Given the description of an element on the screen output the (x, y) to click on. 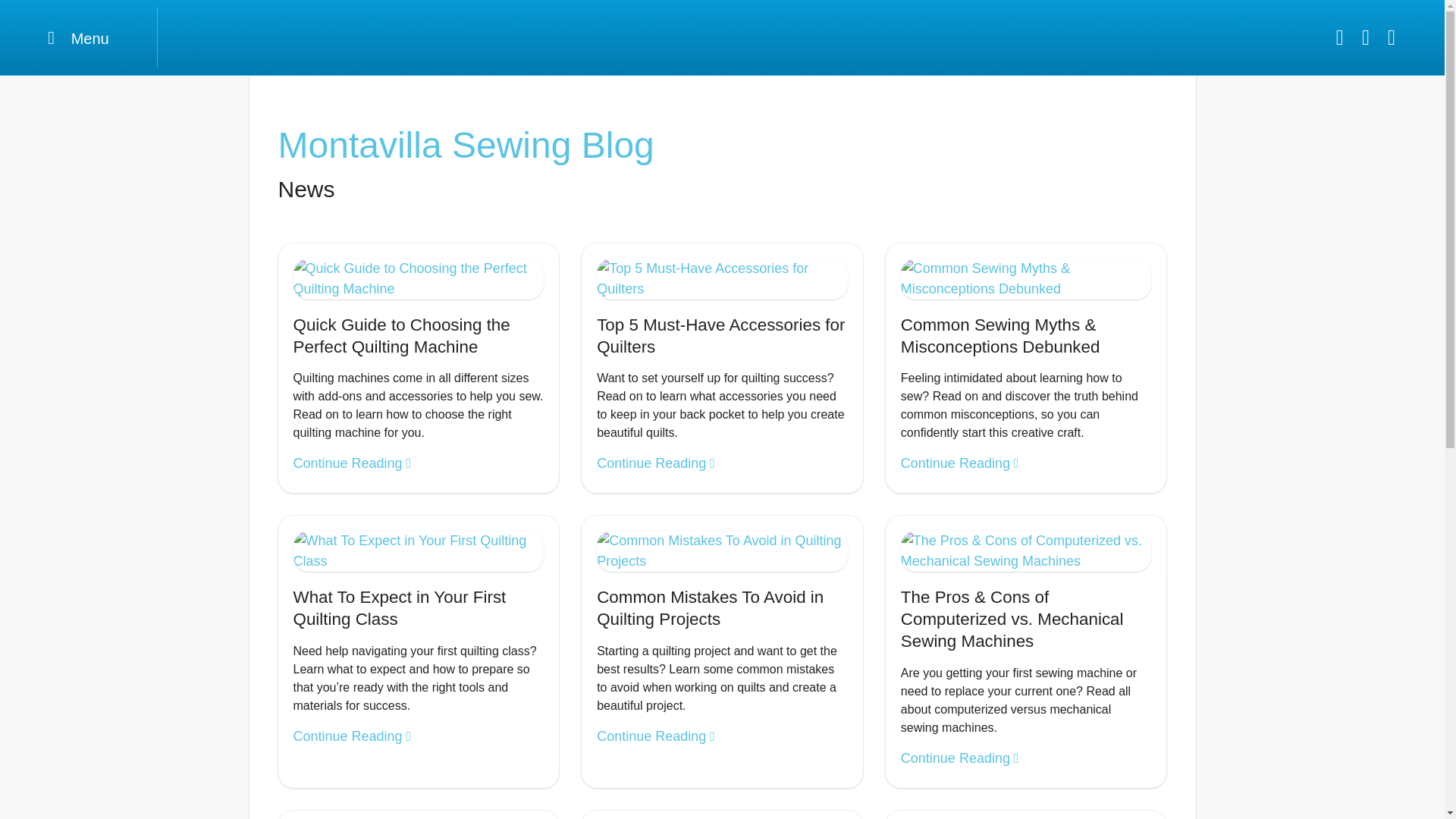
Montavilla Sewing Blog (722, 145)
Menu (78, 37)
